Given the description of an element on the screen output the (x, y) to click on. 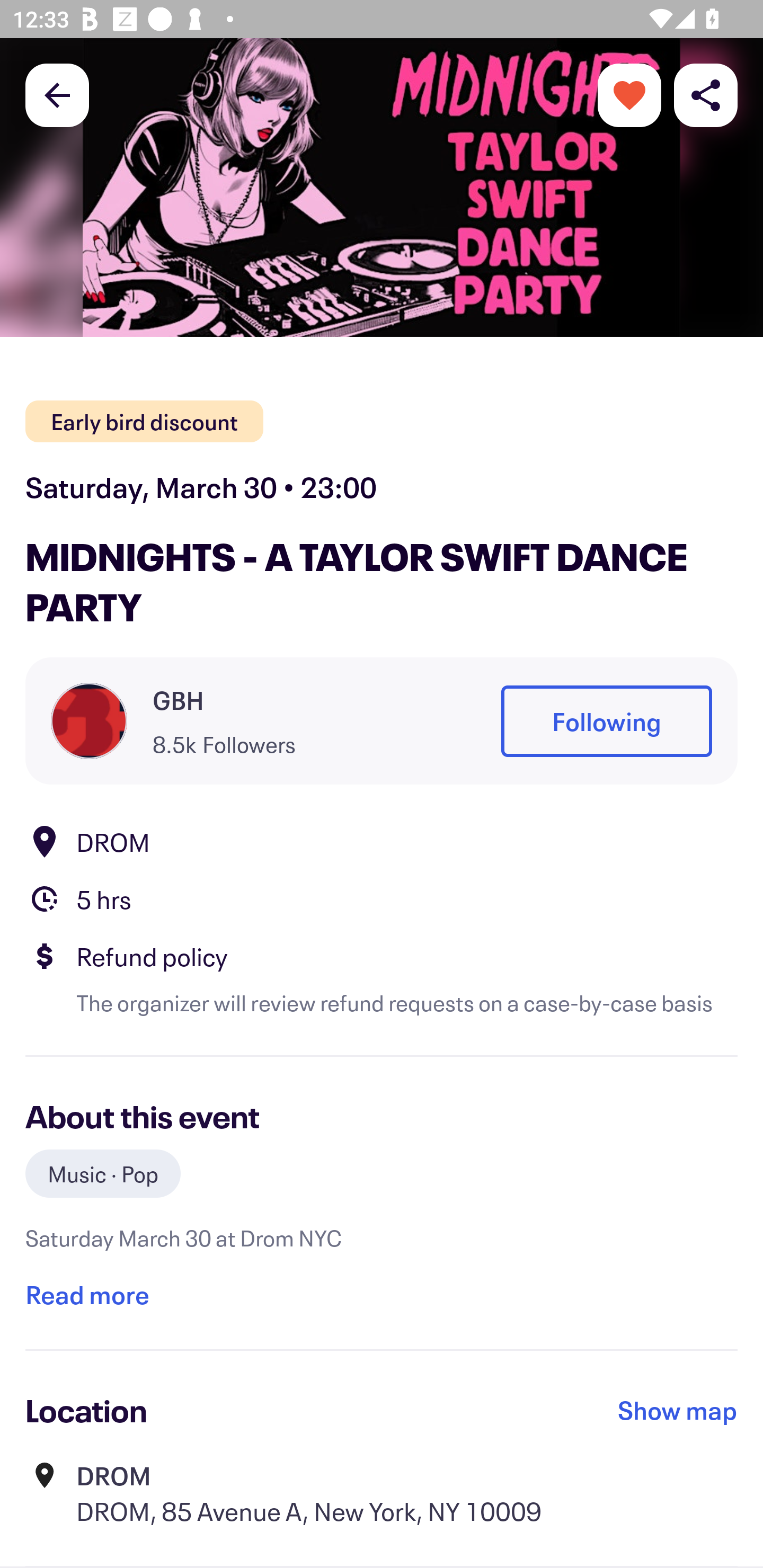
Back (57, 94)
More (629, 94)
Share (705, 94)
Early bird discount (144, 421)
GBH (178, 699)
Organizer profile picture (89, 720)
Following (606, 720)
Location DROM (381, 840)
Read more (87, 1293)
Show map (677, 1410)
